Given the description of an element on the screen output the (x, y) to click on. 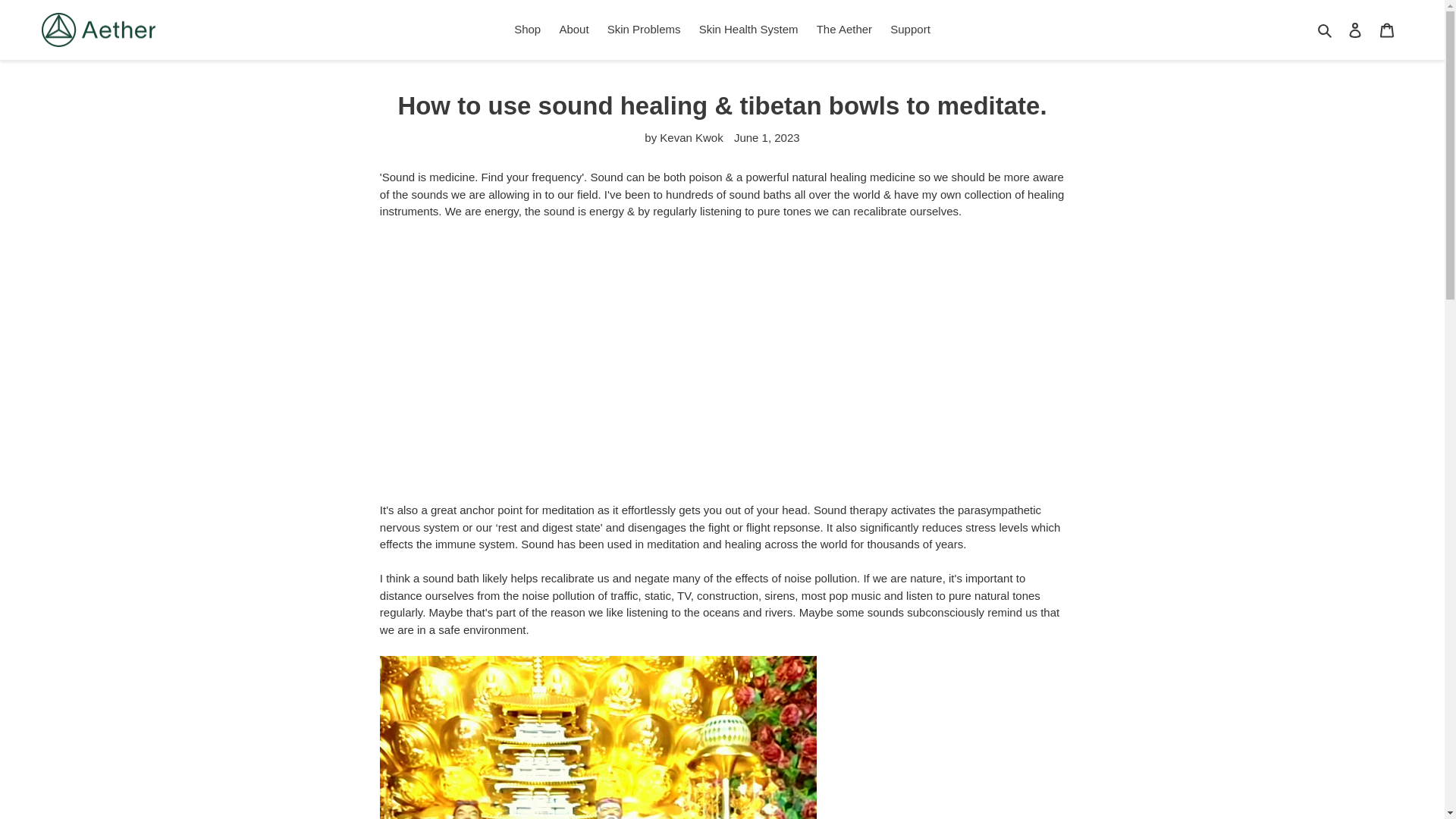
About (573, 29)
Shop (527, 29)
Skin Problems (643, 29)
YouTube video player (592, 359)
Skin Health System (748, 29)
